Given the description of an element on the screen output the (x, y) to click on. 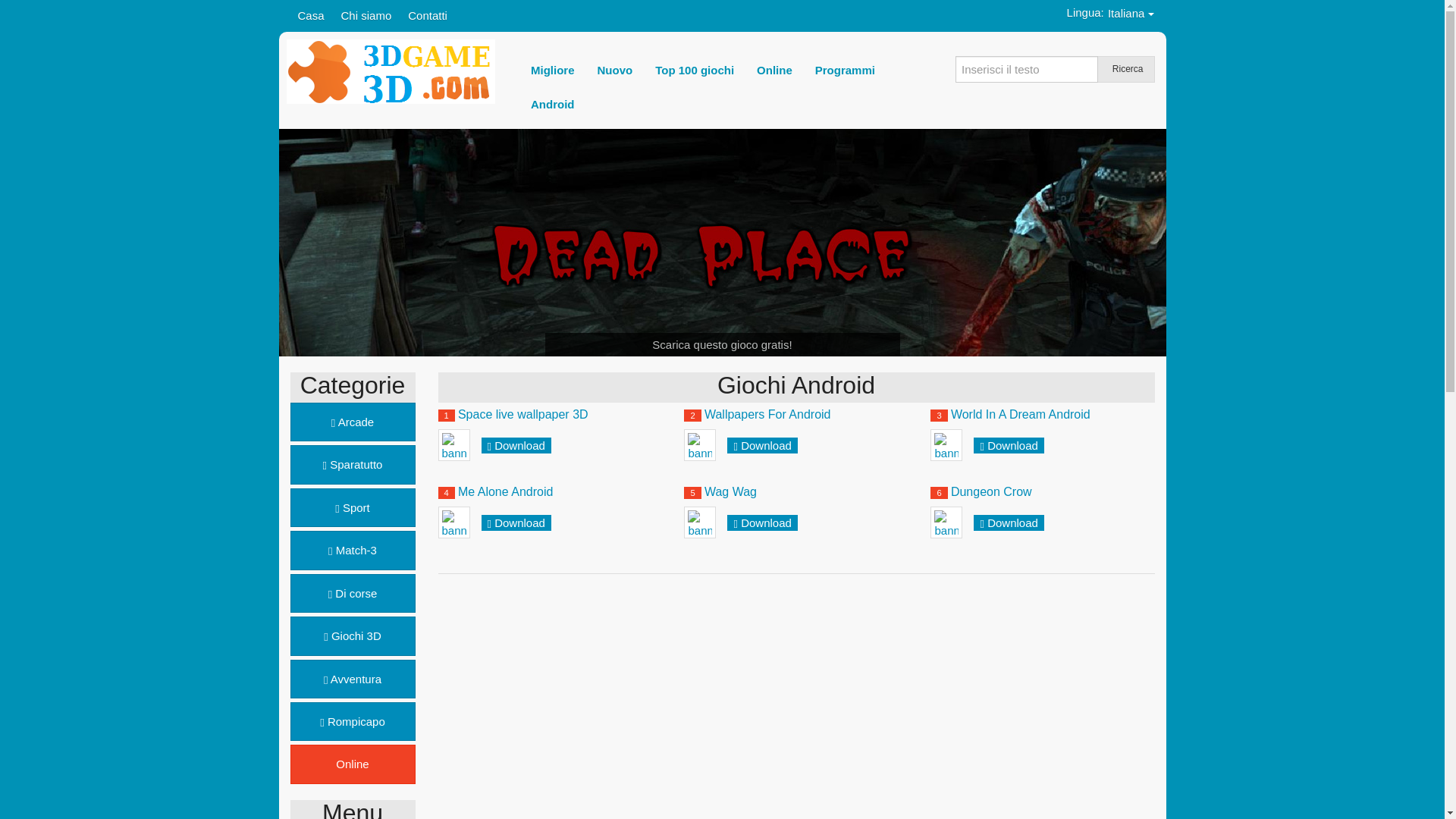
Download Element type: text (765, 522)
Casa Element type: text (310, 15)
Programmi Element type: text (844, 70)
Online Element type: text (351, 763)
Avventura Element type: text (351, 678)
Sport Element type: text (351, 507)
Migliore Element type: text (552, 70)
Download Element type: text (1012, 522)
Match-3 Element type: text (351, 549)
Download Element type: text (765, 445)
Sparatutto Element type: text (351, 464)
Nuovo Element type: text (615, 70)
More about Wallpapers For Android Element type: hover (699, 445)
Ricerca Element type: text (1125, 69)
More about Wag Wag Element type: hover (699, 522)
Download Element type: text (519, 445)
More about Dungeon Crow Element type: hover (946, 522)
Download Element type: text (519, 522)
More about Space live wallpaper 3D Element type: hover (454, 445)
World In A Dream Android Element type: text (1020, 413)
Contatti Element type: text (427, 15)
Wallpapers For Android Element type: text (767, 413)
Scarica questo gioco gratis! Element type: text (721, 344)
Di corse Element type: text (351, 593)
Top 100 giochi Element type: text (694, 70)
Chi siamo Element type: text (366, 15)
Rompicapo Element type: text (351, 721)
Arcade Element type: text (351, 421)
Me Alone Android Element type: text (505, 491)
More about World In A Dream Android Element type: hover (946, 445)
Wag Wag Element type: text (730, 491)
More about Me Alone Android Element type: hover (454, 522)
Space live wallpaper 3D Element type: text (523, 413)
Dungeon Crow Element type: text (991, 491)
Giochi 3D Element type: text (351, 635)
Download Element type: text (1012, 445)
Online Element type: text (774, 70)
Android Element type: text (552, 104)
